Given the description of an element on the screen output the (x, y) to click on. 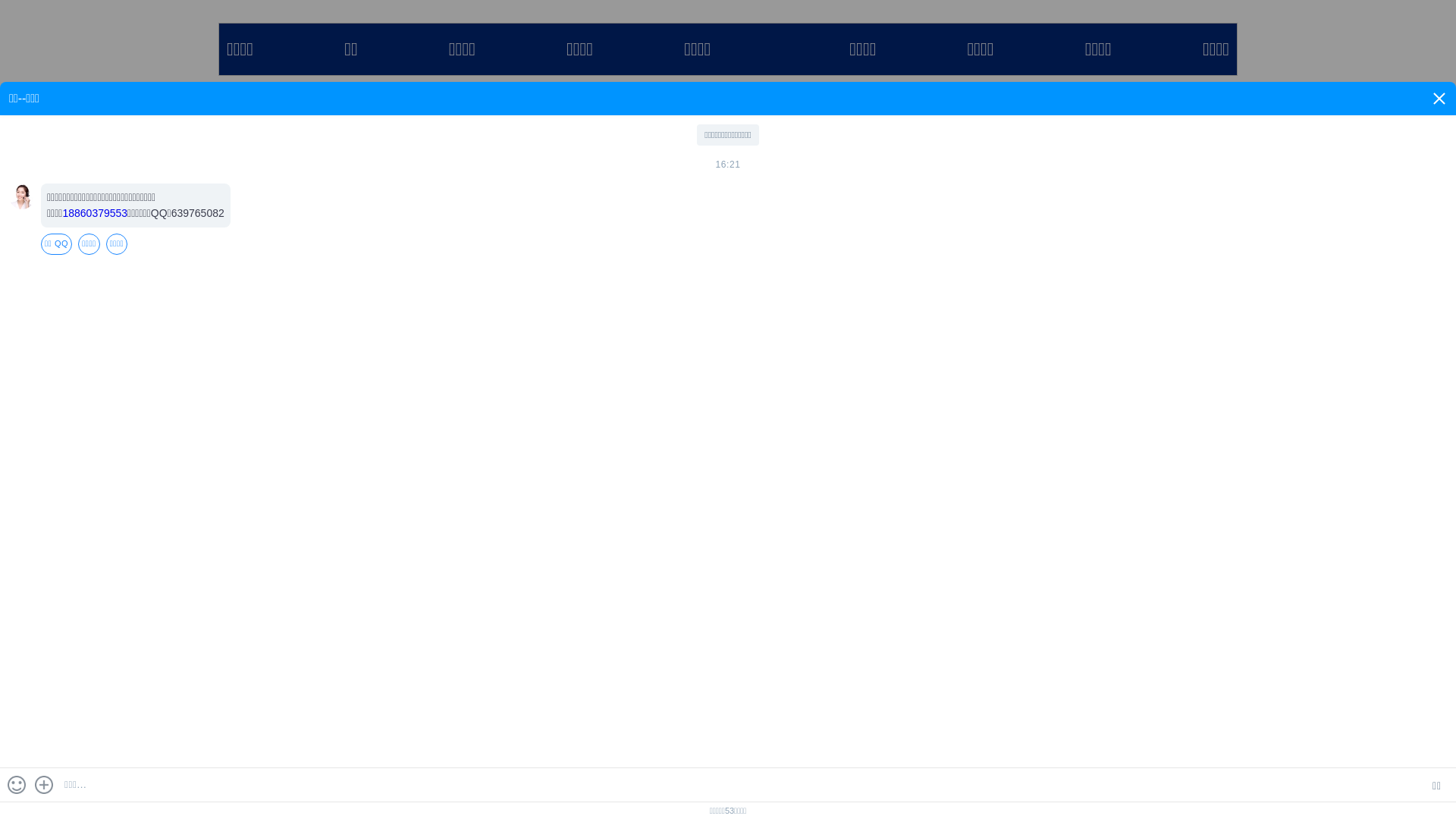
1635390500962792.png Element type: hover (610, 596)
1635390144778198.png Element type: hover (595, 351)
